Given the description of an element on the screen output the (x, y) to click on. 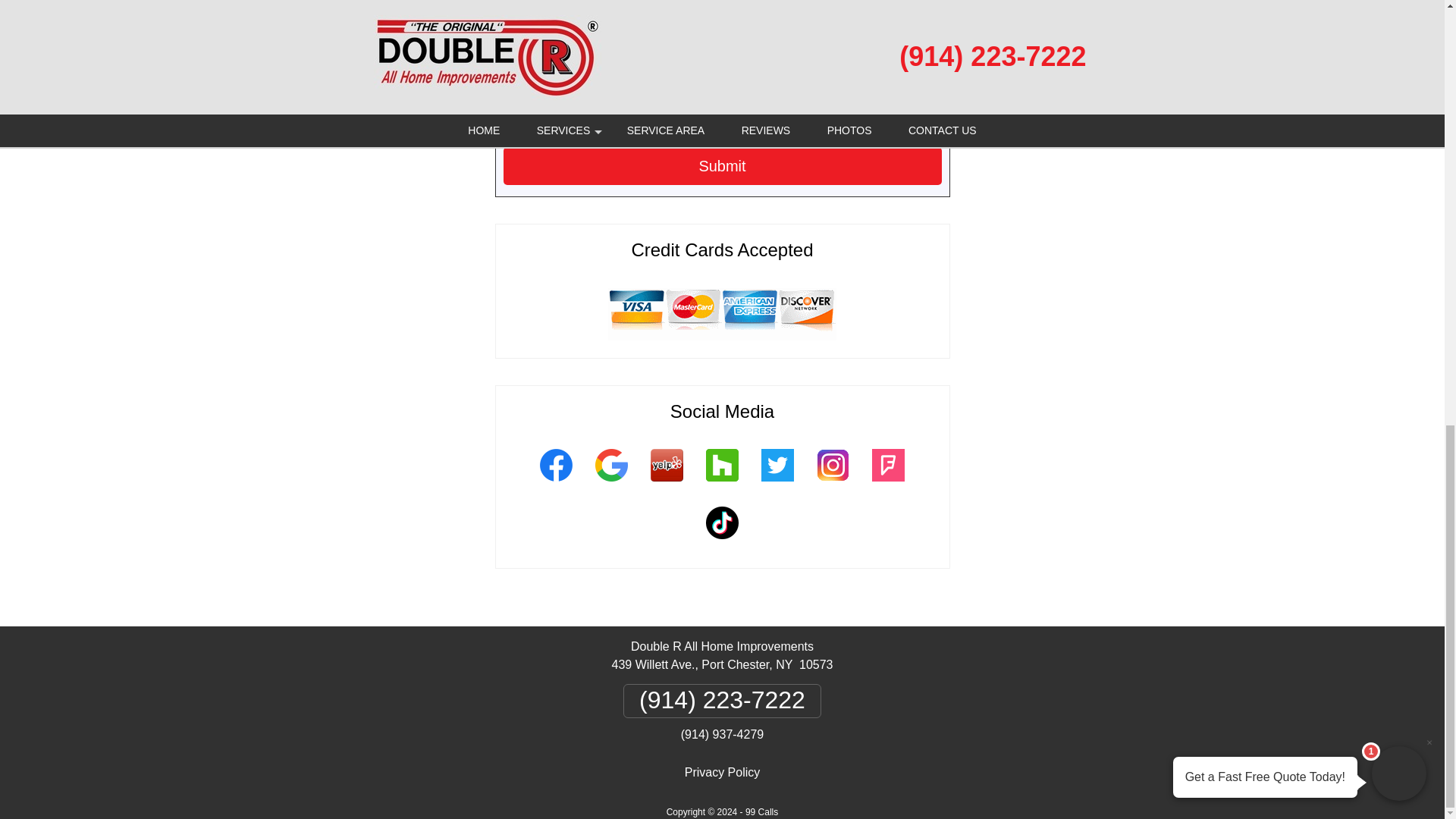
Privacy Policy (722, 771)
Google (611, 483)
Twitter (777, 483)
Facebook (555, 483)
Foursquare (887, 483)
TikTok (721, 541)
Yelp (666, 483)
Instagram (832, 483)
Submit (722, 166)
Houzz (721, 483)
